Given the description of an element on the screen output the (x, y) to click on. 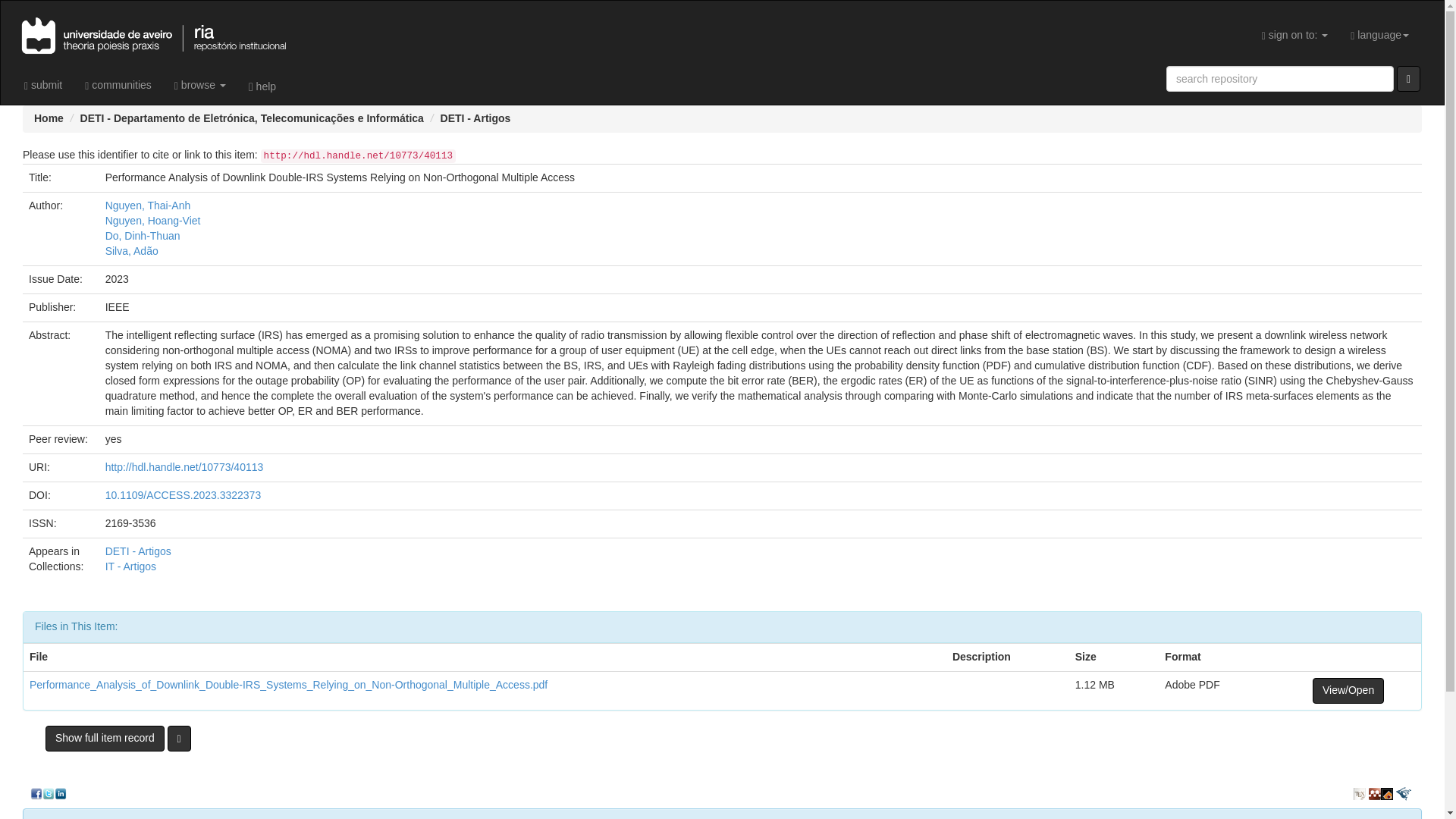
Nguyen, Hoang-Viet (152, 220)
Home (48, 118)
browse (200, 85)
Partilhe no LinkedIn (60, 793)
Partilhe no Twitter (48, 793)
submit (43, 85)
IT - Artigos (129, 566)
DETI - Artigos (137, 551)
Adicione ao Mendeley (1374, 793)
communities (118, 85)
